Given the description of an element on the screen output the (x, y) to click on. 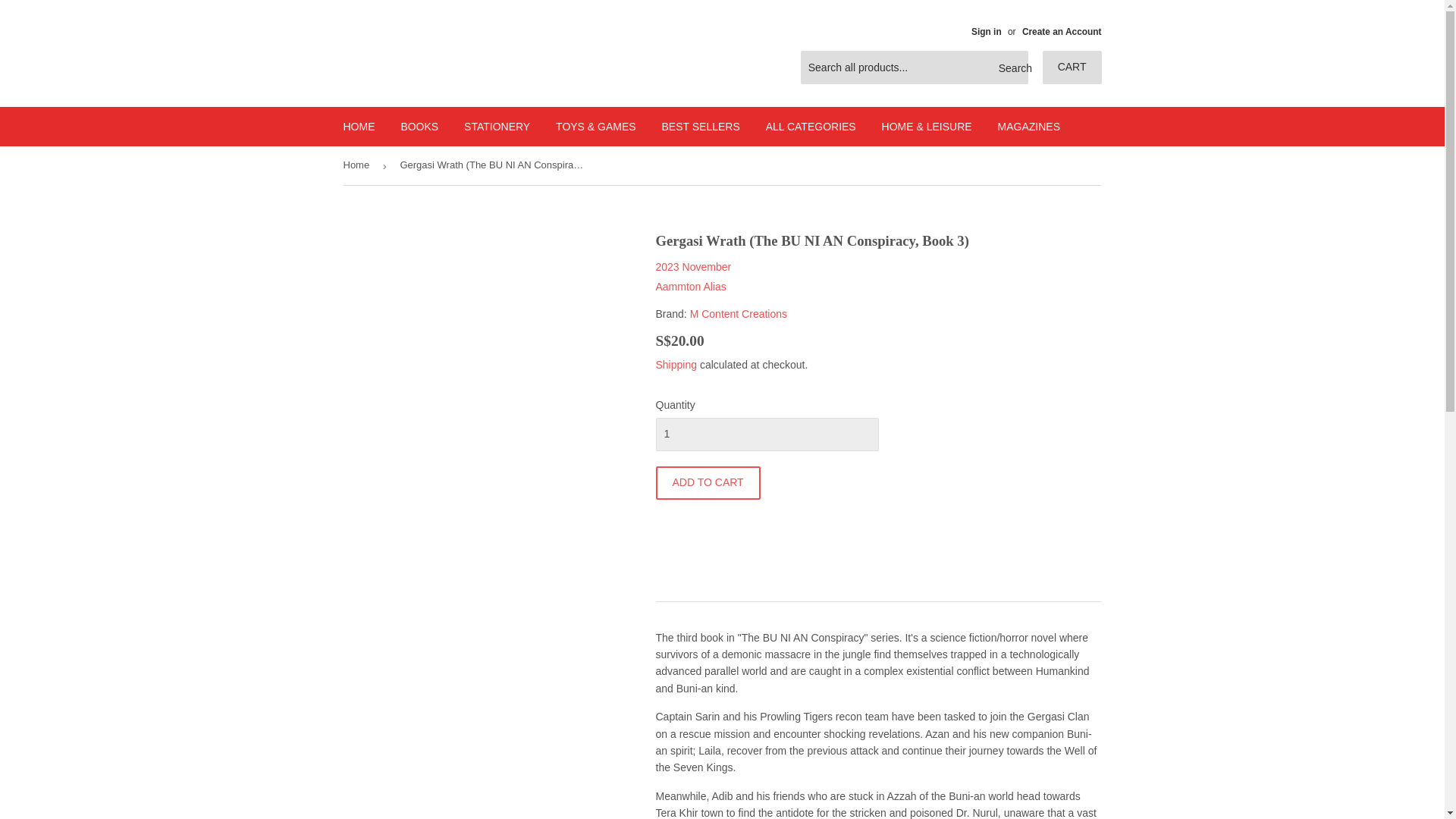
Back to the frontpage (358, 165)
Search (1010, 68)
M Content Creations (738, 313)
1 (766, 434)
Sign in (986, 31)
Create an Account (1062, 31)
CART (1072, 67)
